Given the description of an element on the screen output the (x, y) to click on. 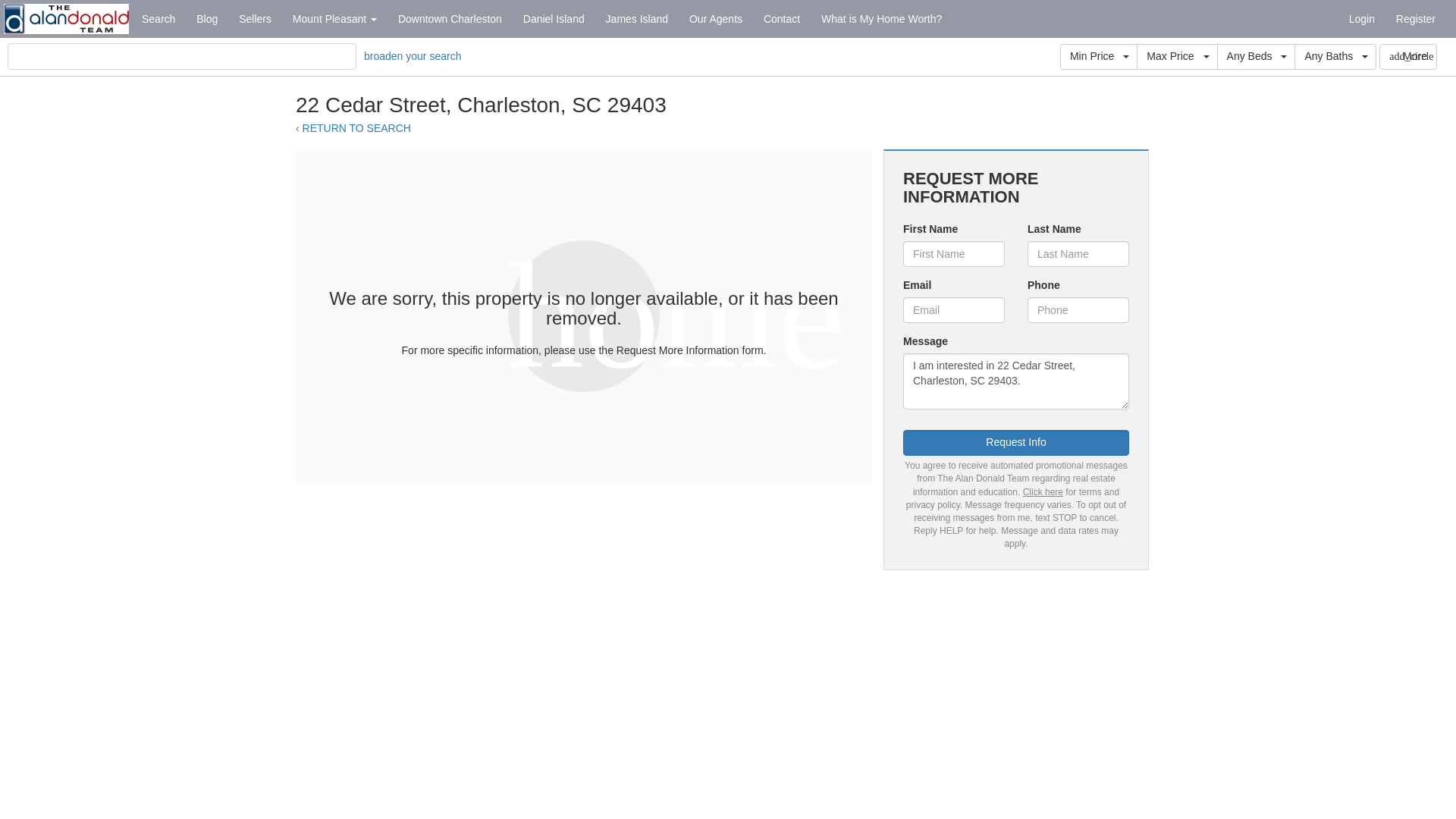
What is My Home Worth? (881, 18)
Login (1361, 18)
Register (1415, 18)
Our Agents (715, 18)
Mount Pleasant (334, 18)
Sellers (255, 18)
Daniel Island (553, 18)
Blog (207, 18)
Downtown Charleston (449, 18)
James Island (636, 18)
